Given the description of an element on the screen output the (x, y) to click on. 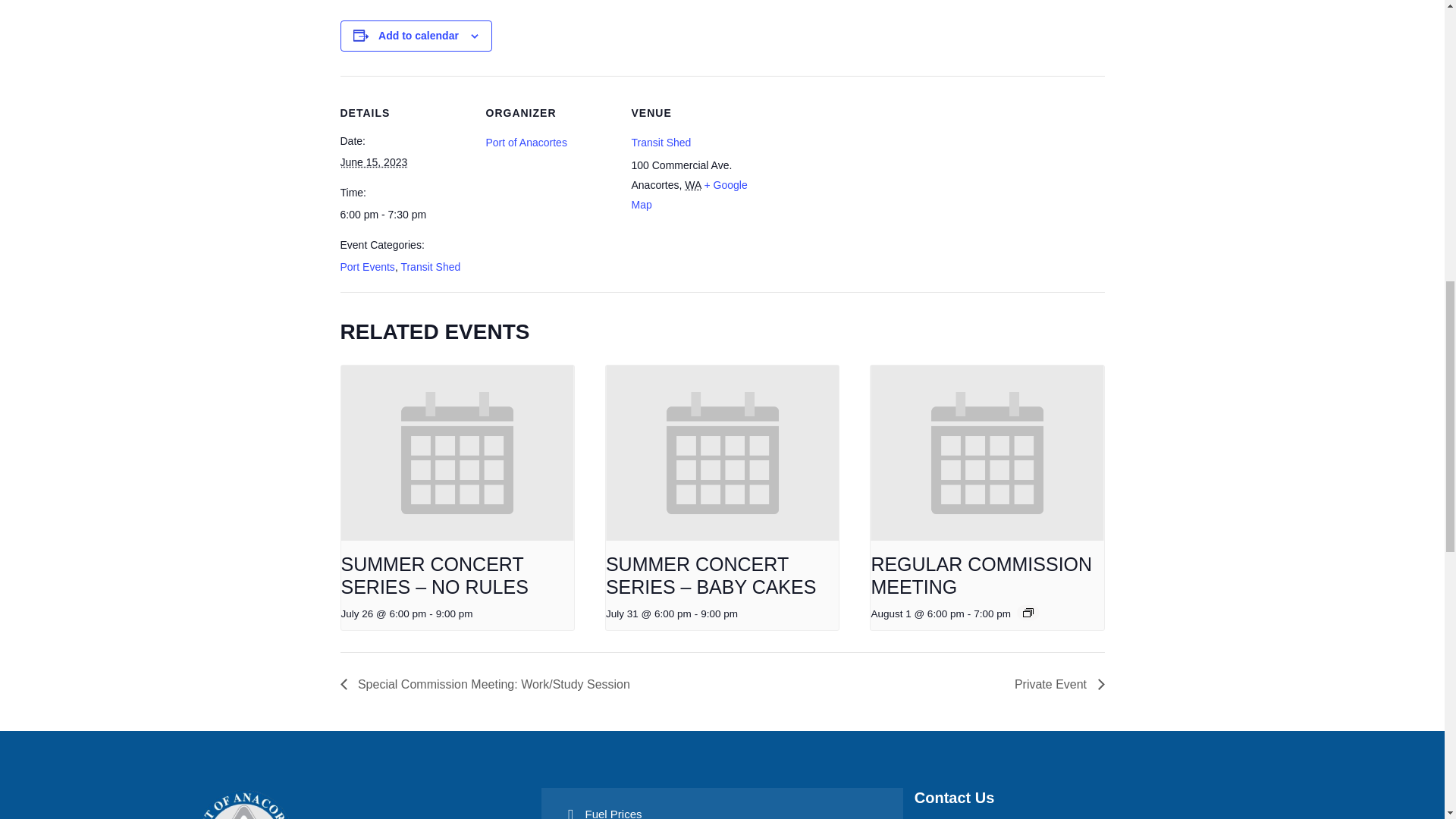
Port of Anacortes (525, 142)
Click to view a Google Map (688, 194)
portroundlogo (242, 803)
Google maps iframe displaying the address to Transit Shed (856, 179)
2023-06-15 (373, 162)
Washington (692, 184)
Event Series (1028, 612)
2023-06-15 (403, 214)
